Given the description of an element on the screen output the (x, y) to click on. 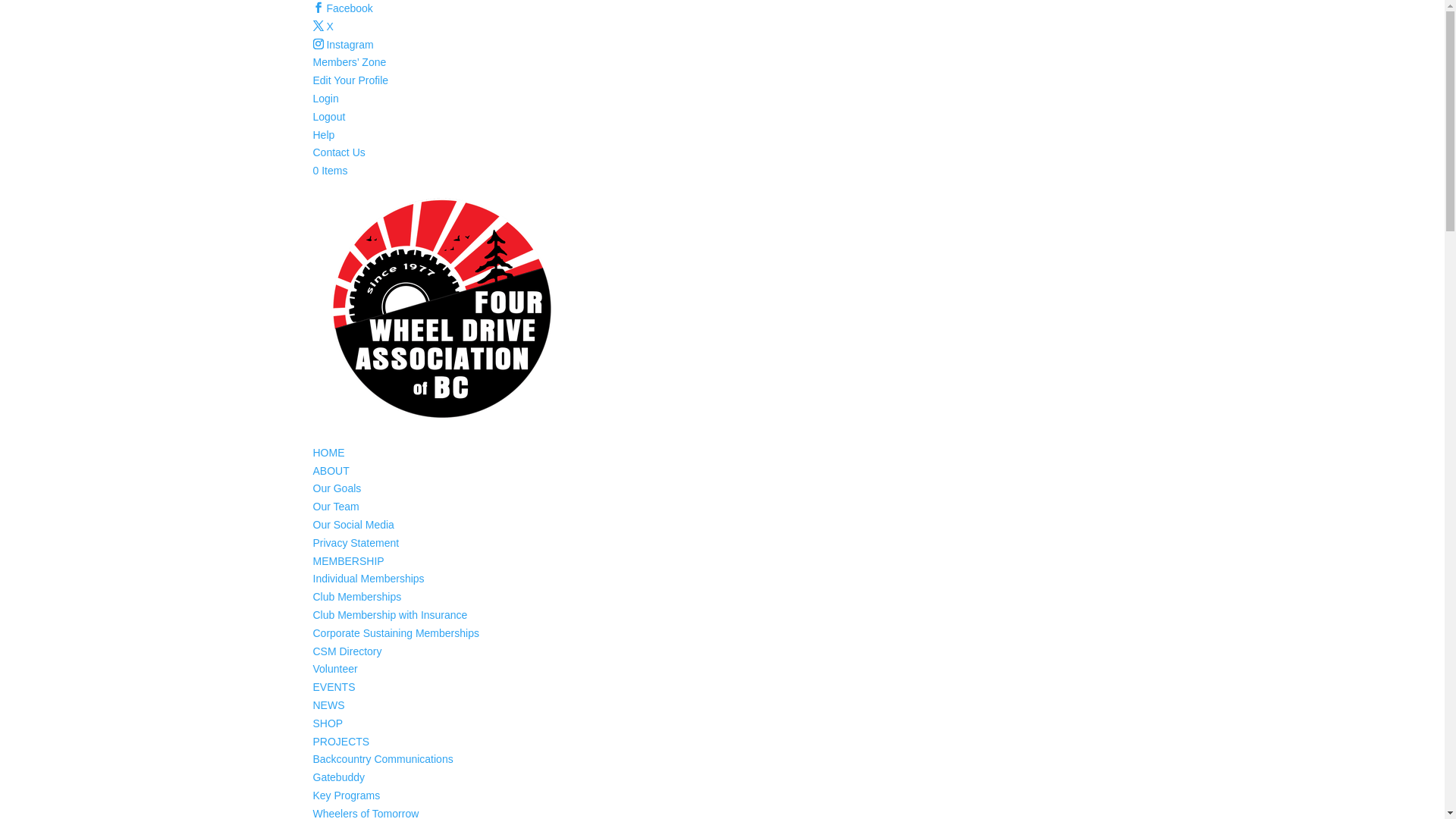
HOME Element type: text (328, 452)
Our Team Element type: text (335, 506)
Club Membership with Insurance Element type: text (389, 614)
CSM Directory Element type: text (346, 651)
Gatebuddy Element type: text (338, 777)
MEMBERSHIP Element type: text (347, 561)
Facebook Element type: text (342, 8)
Privacy Statement Element type: text (355, 542)
Corporate Sustaining Memberships Element type: text (395, 633)
Help Element type: text (323, 134)
Contact Us Element type: text (338, 152)
PROJECTS Element type: text (340, 741)
ABOUT Element type: text (330, 470)
Instagram Element type: text (342, 44)
EVENTS Element type: text (333, 686)
Volunteer Element type: text (334, 668)
Login Element type: text (325, 98)
X Element type: text (322, 26)
Our Goals Element type: text (336, 488)
Backcountry Communications Element type: text (382, 759)
Key Programs Element type: text (345, 795)
0 Items Element type: text (329, 170)
Club Memberships Element type: text (356, 596)
Individual Memberships Element type: text (367, 578)
NEWS Element type: text (328, 705)
Edit Your Profile Element type: text (350, 80)
SHOP Element type: text (327, 723)
Our Social Media Element type: text (352, 524)
Logout Element type: text (328, 116)
